Given the description of an element on the screen output the (x, y) to click on. 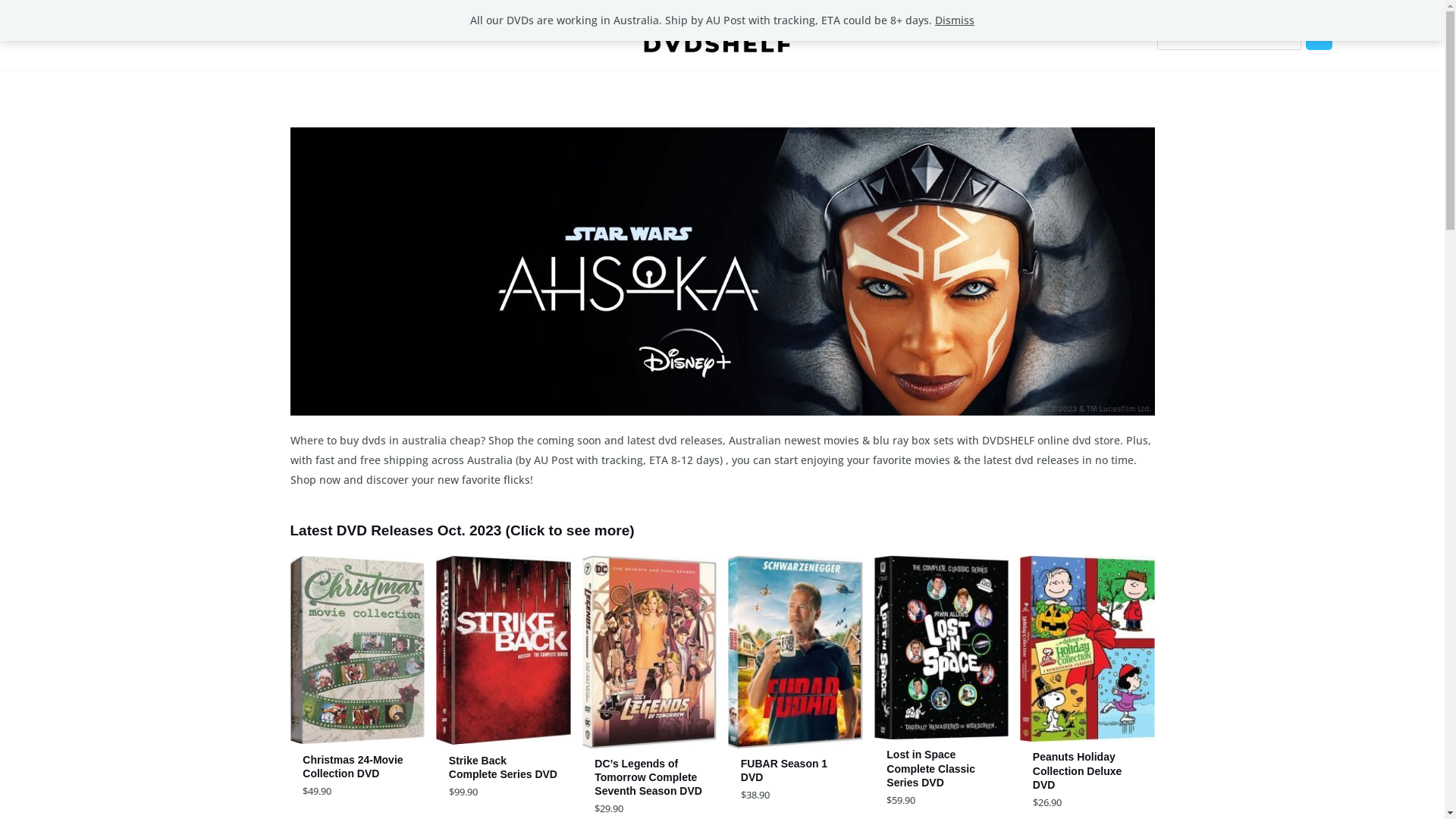
Peanuts Holiday Collection Deluxe DVD Element type: text (1087, 773)
Contact Element type: text (450, 34)
Christmas 24-Movie Collection DVD Element type: text (356, 769)
Dismiss Element type: text (954, 19)
Popular BBC Shows Element type: text (360, 34)
New to DVD Element type: text (67, 34)
FUBAR Season 1 DVD Element type: text (795, 772)
Strike Back Complete Series DVD Element type: text (503, 769)
Lost in Space Complete Classic Series DVD Element type: text (940, 770)
Box Sets Element type: text (197, 34)
Movies Element type: text (136, 34)
Latest DVD Releases Oct. 2023 (Click to see more) Element type: text (461, 530)
Log In Element type: text (1402, 34)
Star Wars Element type: text (264, 34)
